Given the description of an element on the screen output the (x, y) to click on. 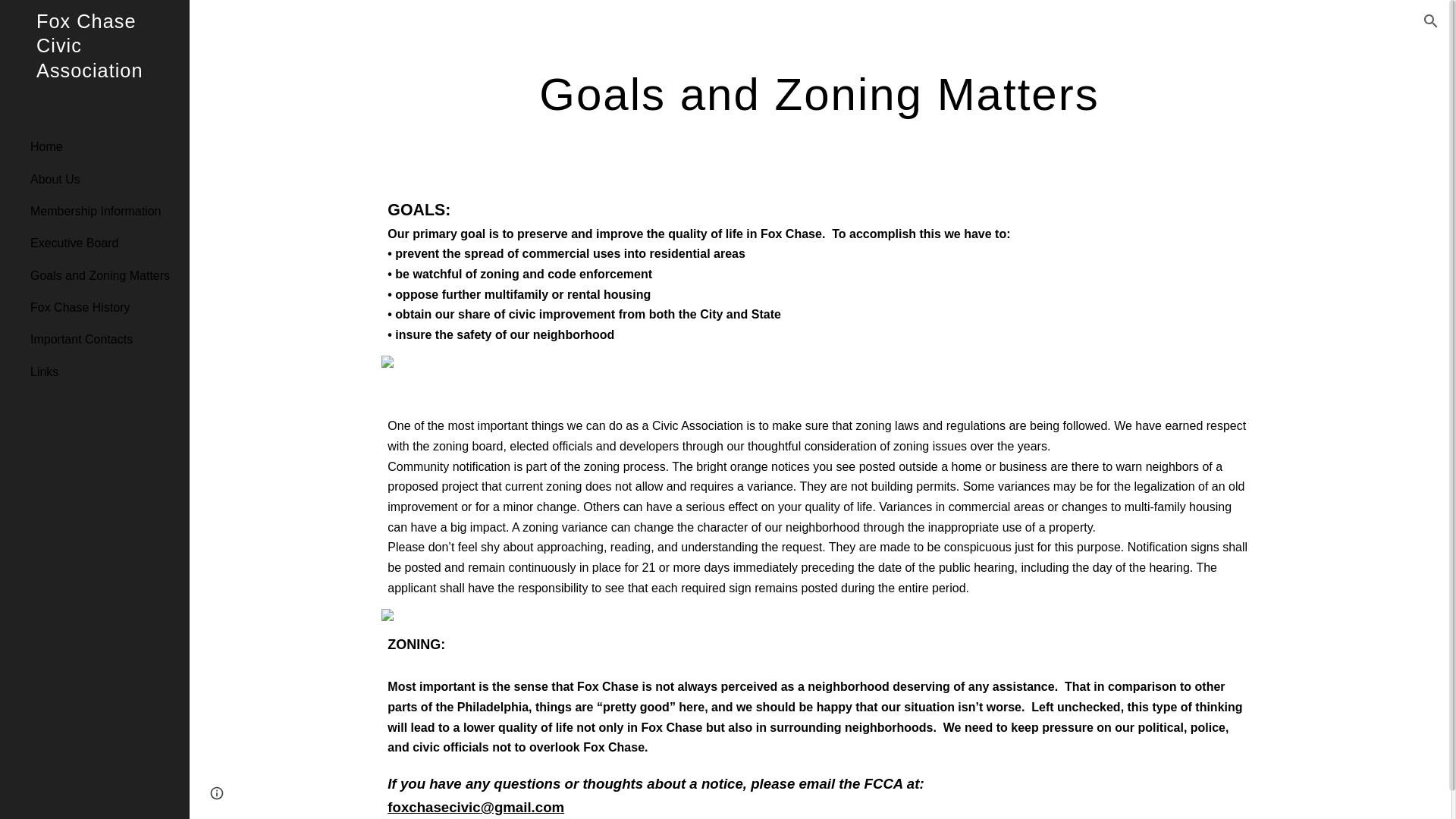
Home (103, 146)
Fox Chase History (103, 307)
Fox Chase Civic Association (94, 65)
About Us (103, 178)
Links (103, 371)
Goals and Zoning Matters (103, 275)
Executive Board (103, 243)
Membership Information (103, 210)
Important Contacts (103, 339)
